Given the description of an element on the screen output the (x, y) to click on. 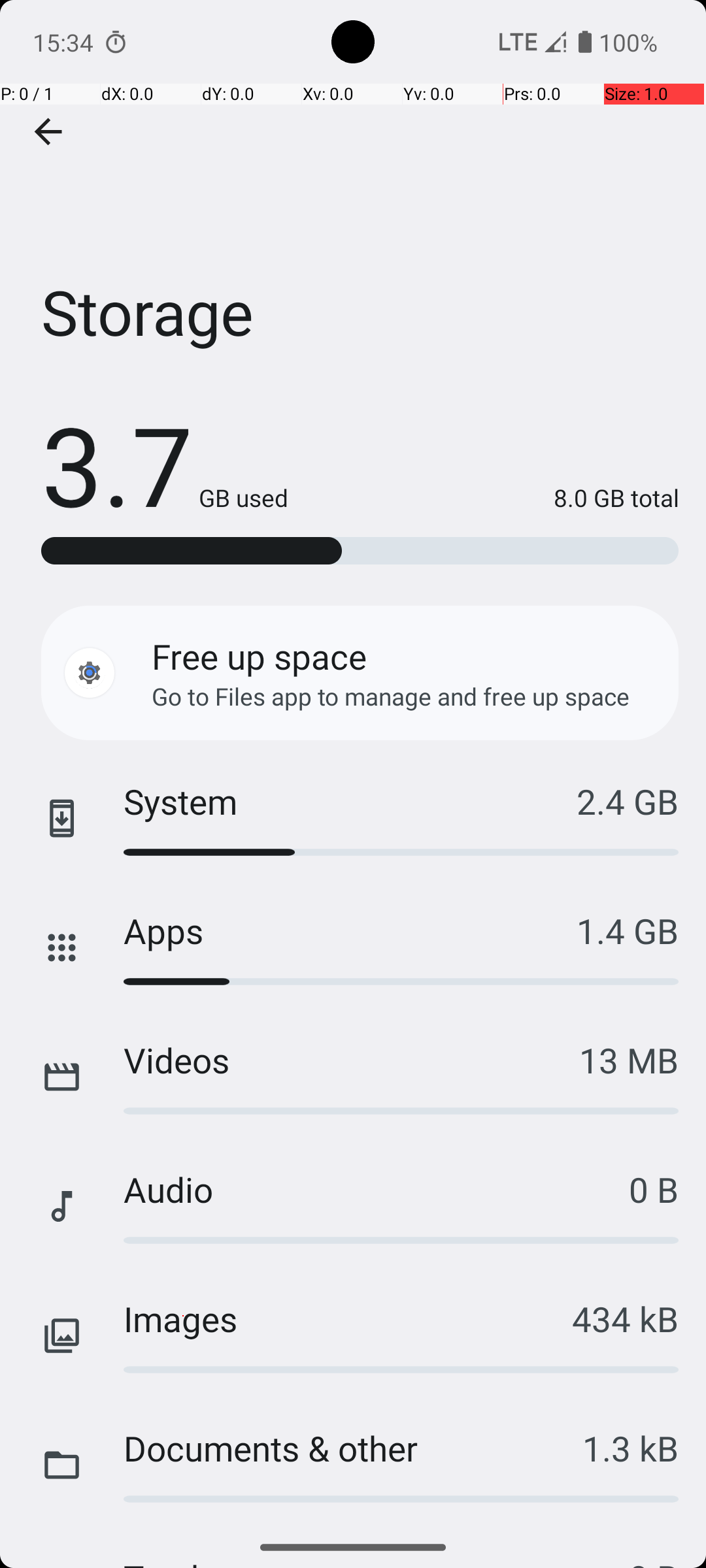
3.7 GB used Element type: android.widget.TextView (164, 463)
2.4 GB Element type: android.widget.TextView (627, 801)
1.4 GB Element type: android.widget.TextView (627, 930)
13 MB Element type: android.widget.TextView (628, 1059)
434 kB Element type: android.widget.TextView (624, 1318)
1.3 kB Element type: android.widget.TextView (630, 1447)
